Given the description of an element on the screen output the (x, y) to click on. 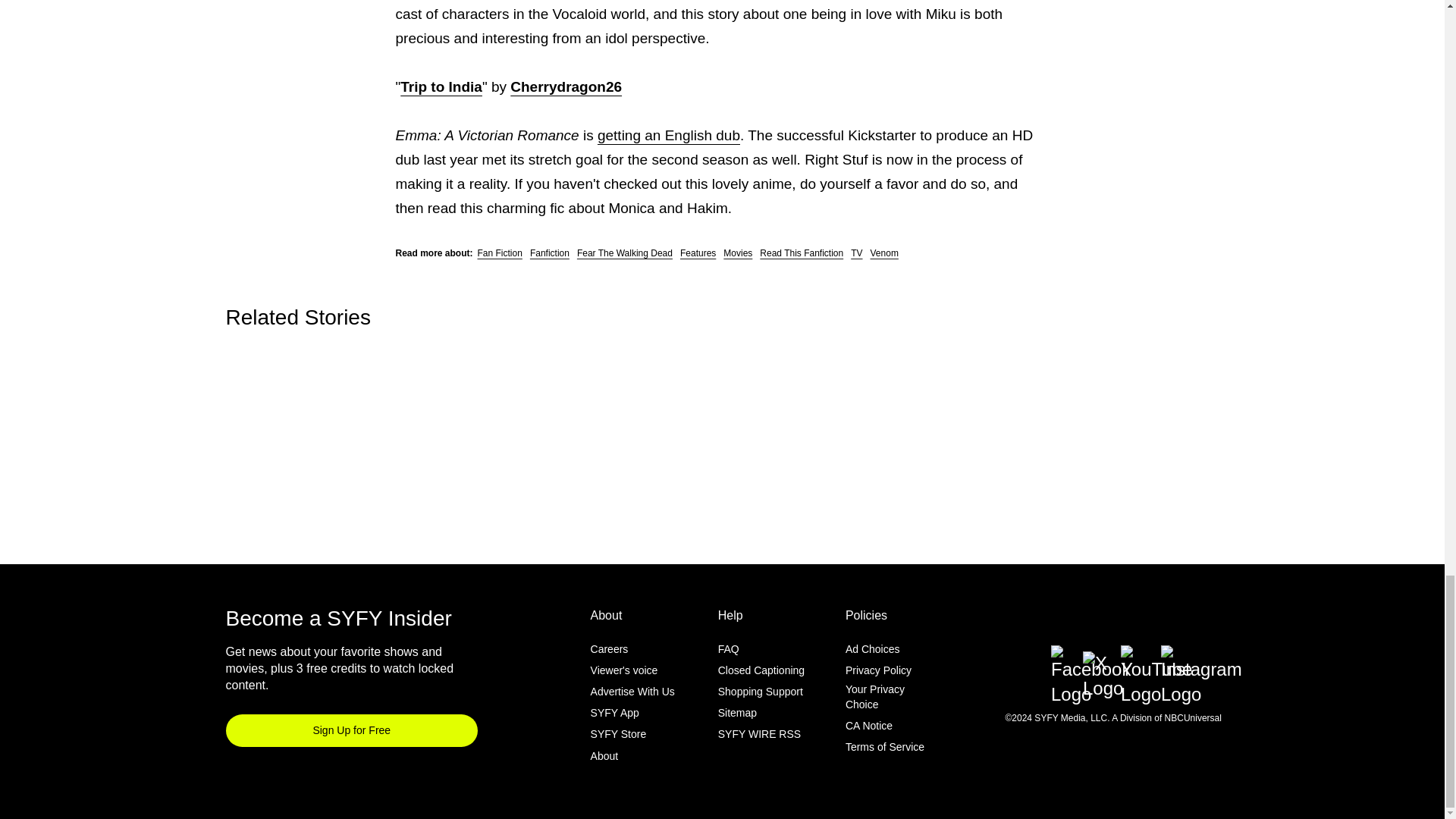
Advertise With Us (633, 691)
